Given the description of an element on the screen output the (x, y) to click on. 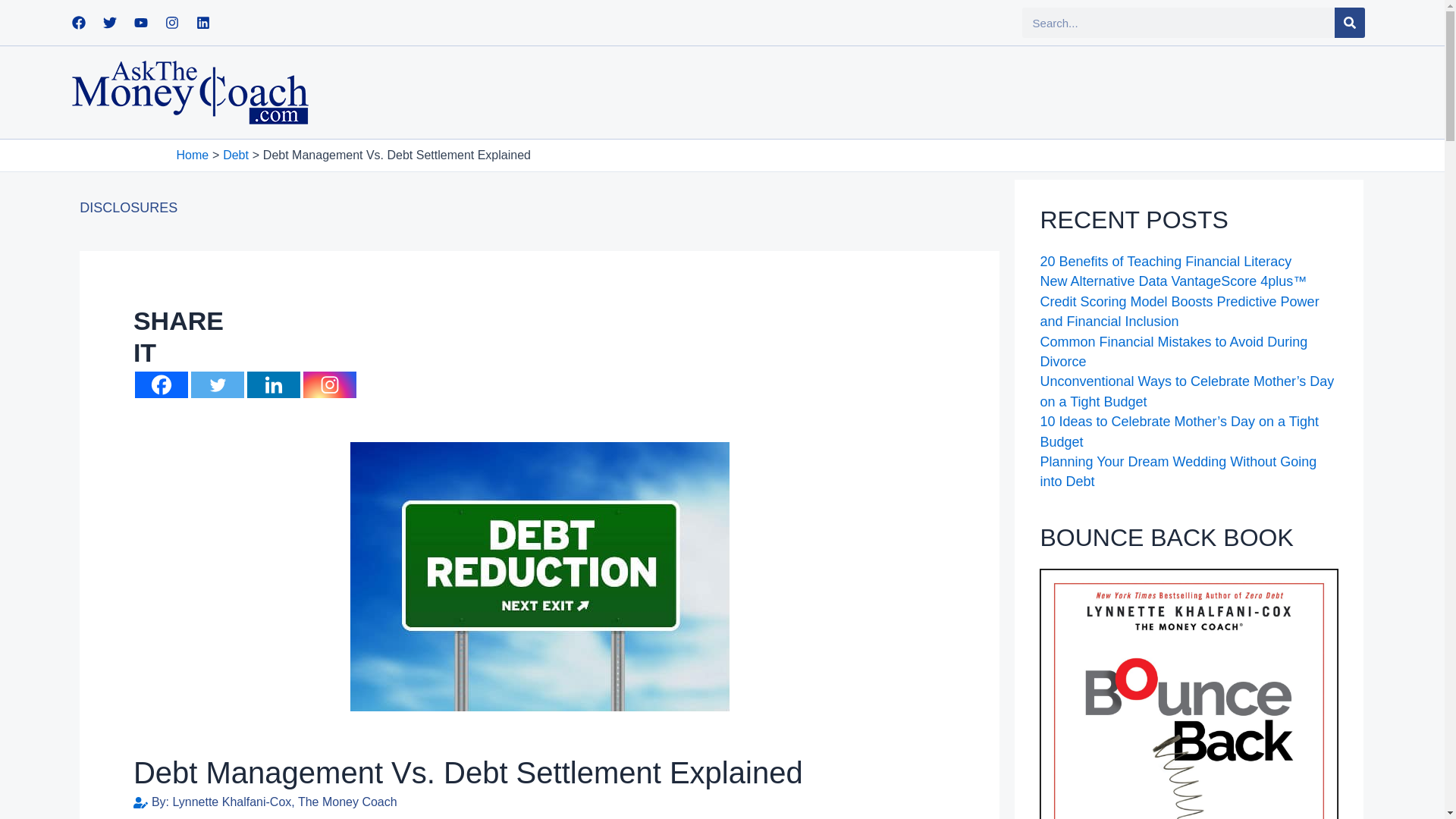
Home (192, 154)
By: Lynnette Khalfani-Cox, The Money Coach (265, 802)
Instagram (329, 384)
Linkedin (202, 22)
Linkedin (273, 384)
Facebook (78, 22)
Facebook (161, 384)
Youtube (140, 22)
Instagram (172, 22)
Twitter (109, 22)
Debt (235, 154)
Search (1350, 22)
Twitter (217, 384)
DISCLOSURES (128, 207)
